Given the description of an element on the screen output the (x, y) to click on. 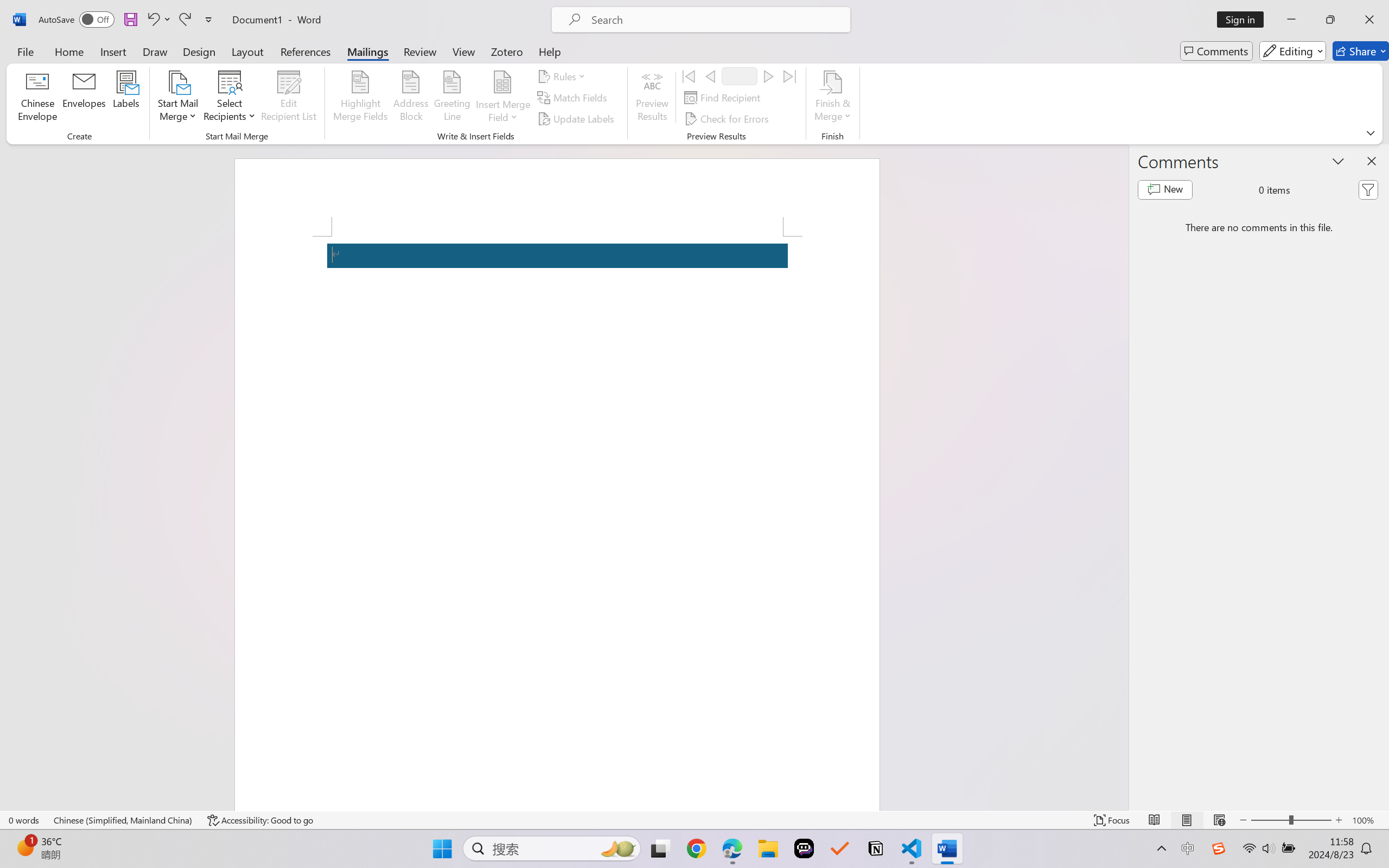
Undo Apply Quick Style Set (152, 19)
Address Block... (410, 97)
Chinese Envelope... (37, 97)
Update Labels (576, 118)
